Given the description of an element on the screen output the (x, y) to click on. 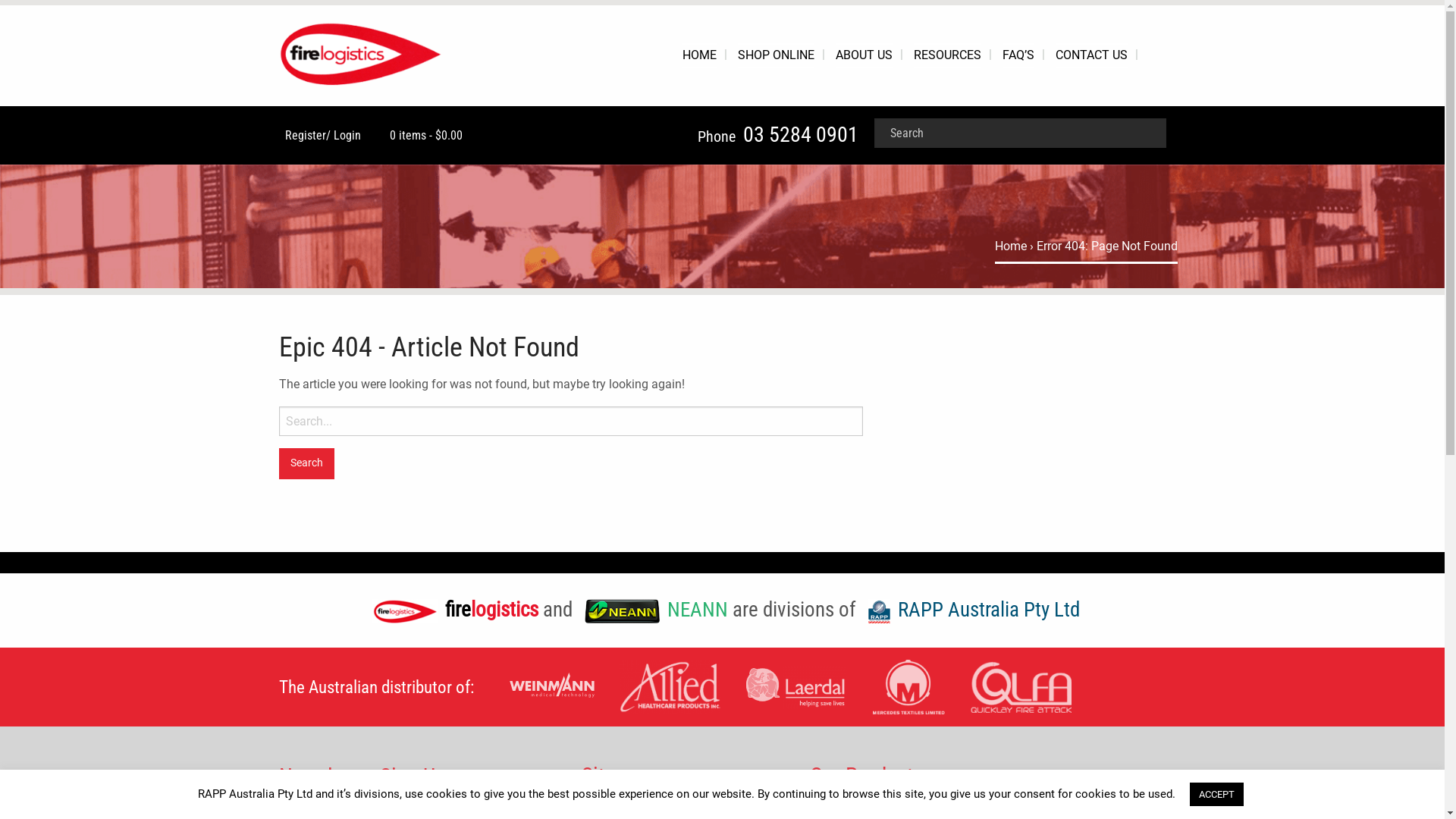
My Account Element type: text (613, 809)
firelogistics Element type: text (451, 609)
ABOUT US Element type: text (863, 55)
Search for: Element type: hover (570, 421)
Medical Response Kits Element type: text (870, 809)
Search Element type: text (307, 463)
SHOP ONLINE Element type: text (775, 55)
Register/ Login Element type: text (319, 135)
ACCEPT Element type: text (1215, 794)
NEANN Element type: text (652, 609)
03 5284 0901 Element type: text (800, 134)
RESOURCES Element type: text (946, 55)
HOME Element type: text (699, 55)
CONTACT US Element type: text (1091, 55)
Home Element type: text (1010, 246)
0 items - $0.00 Element type: text (422, 135)
RAPP Australia Pty Ltd Element type: text (969, 609)
